Given the description of an element on the screen output the (x, y) to click on. 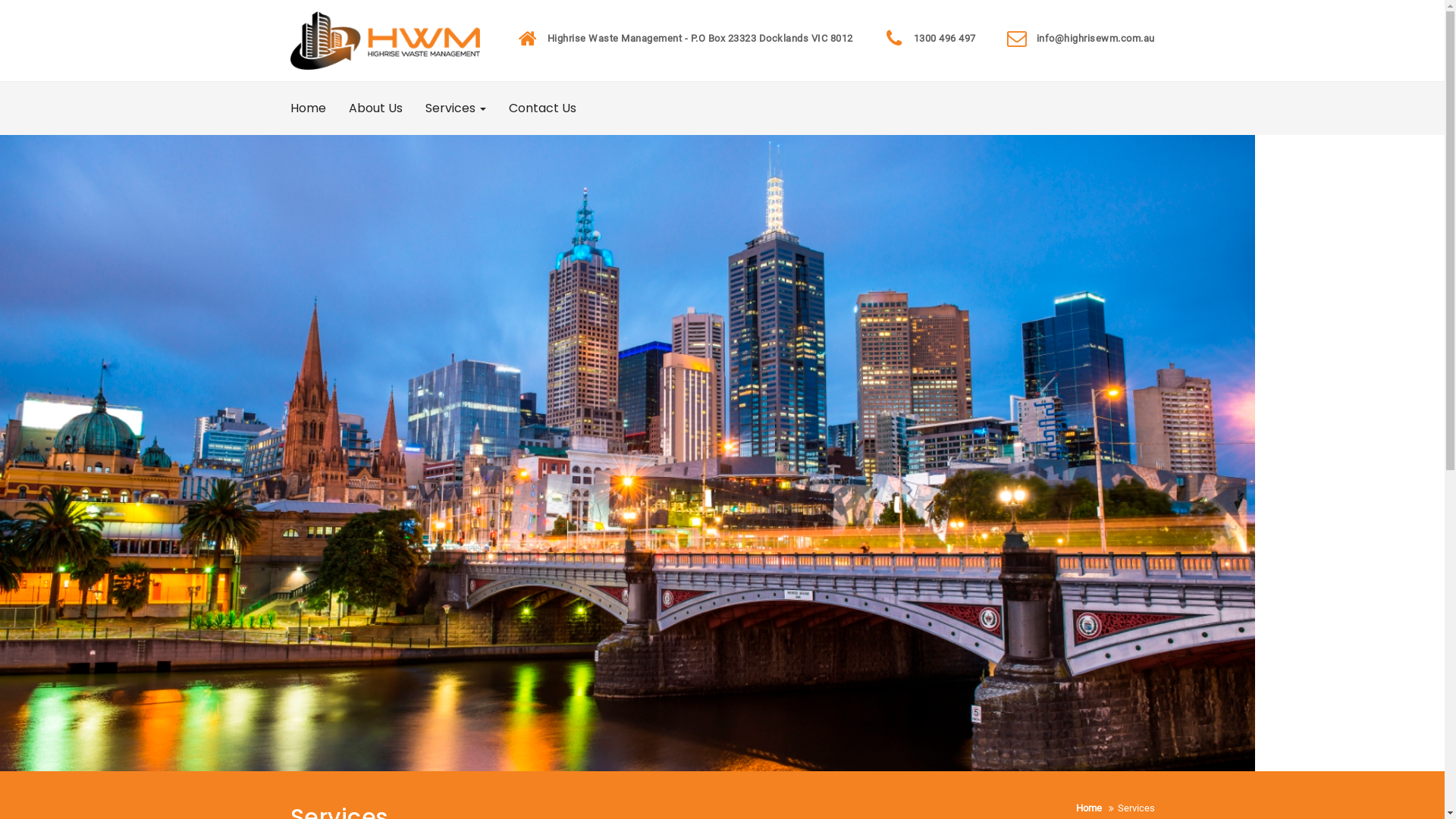
info@highrisewm.com.au Element type: text (1094, 37)
About Us Element type: text (374, 108)
Highrise Waste Management - P.O Box 23323 Docklands VIC 8012 Element type: text (700, 37)
1300 496 497 Element type: text (944, 37)
Services Element type: text (455, 108)
Home Element type: text (308, 108)
Home Element type: text (1088, 807)
Contact Us Element type: text (542, 108)
